Given the description of an element on the screen output the (x, y) to click on. 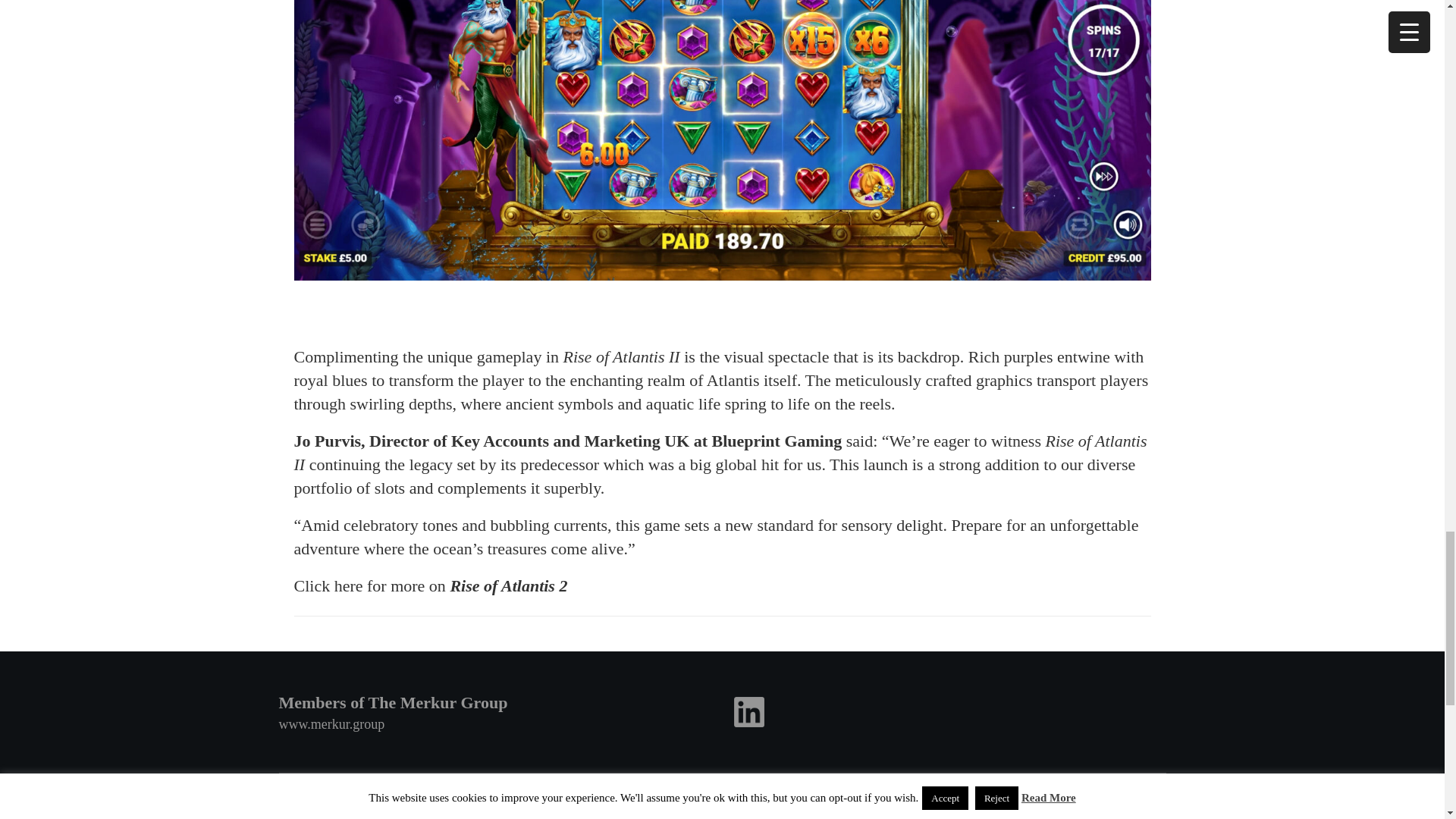
www.merkur.group (332, 724)
Rise of Atlantis 2 (508, 585)
